Given the description of an element on the screen output the (x, y) to click on. 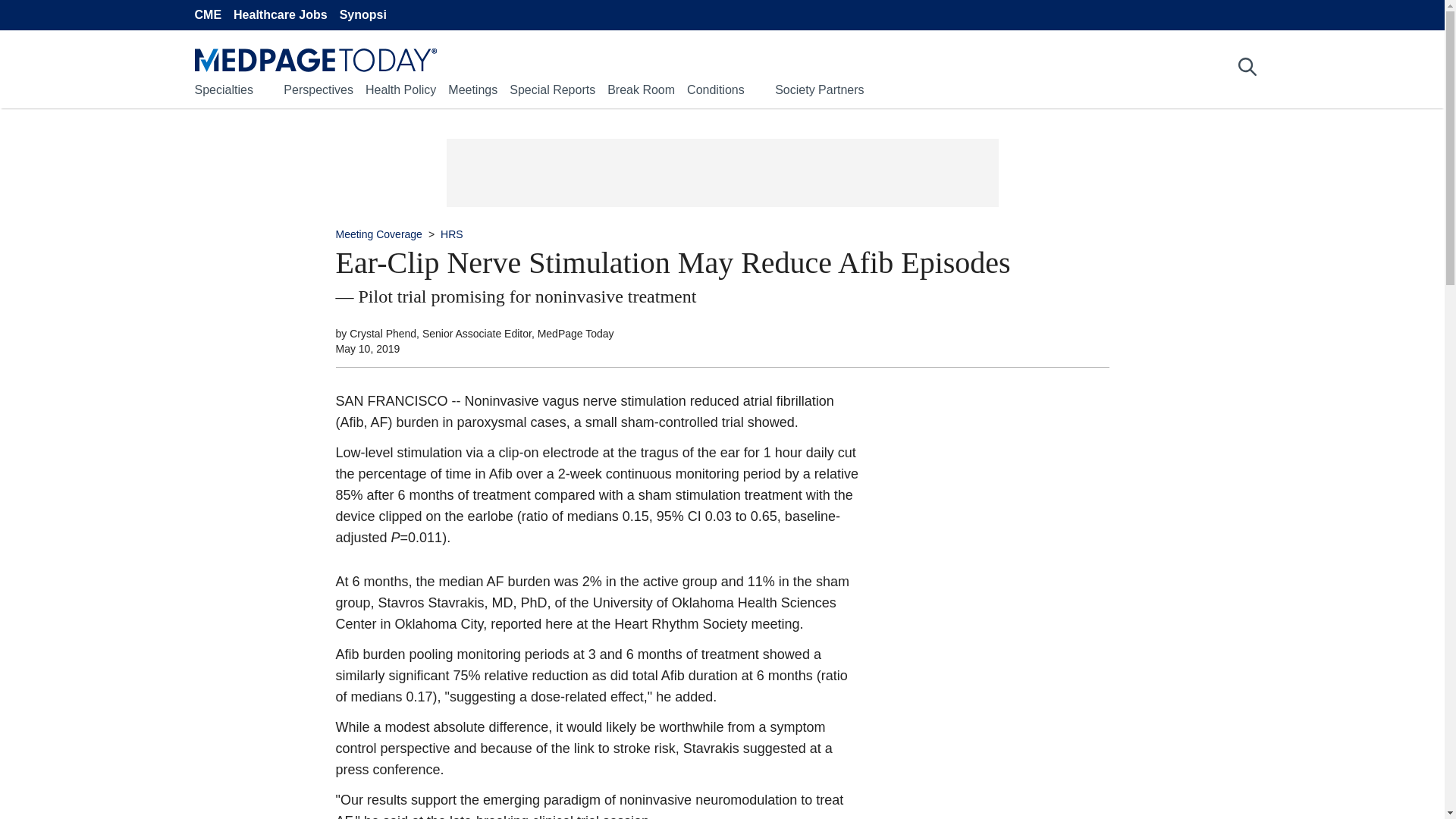
Specialties (222, 89)
CME (207, 15)
Synopsi (363, 15)
Healthcare Jobs (279, 15)
